Given the description of an element on the screen output the (x, y) to click on. 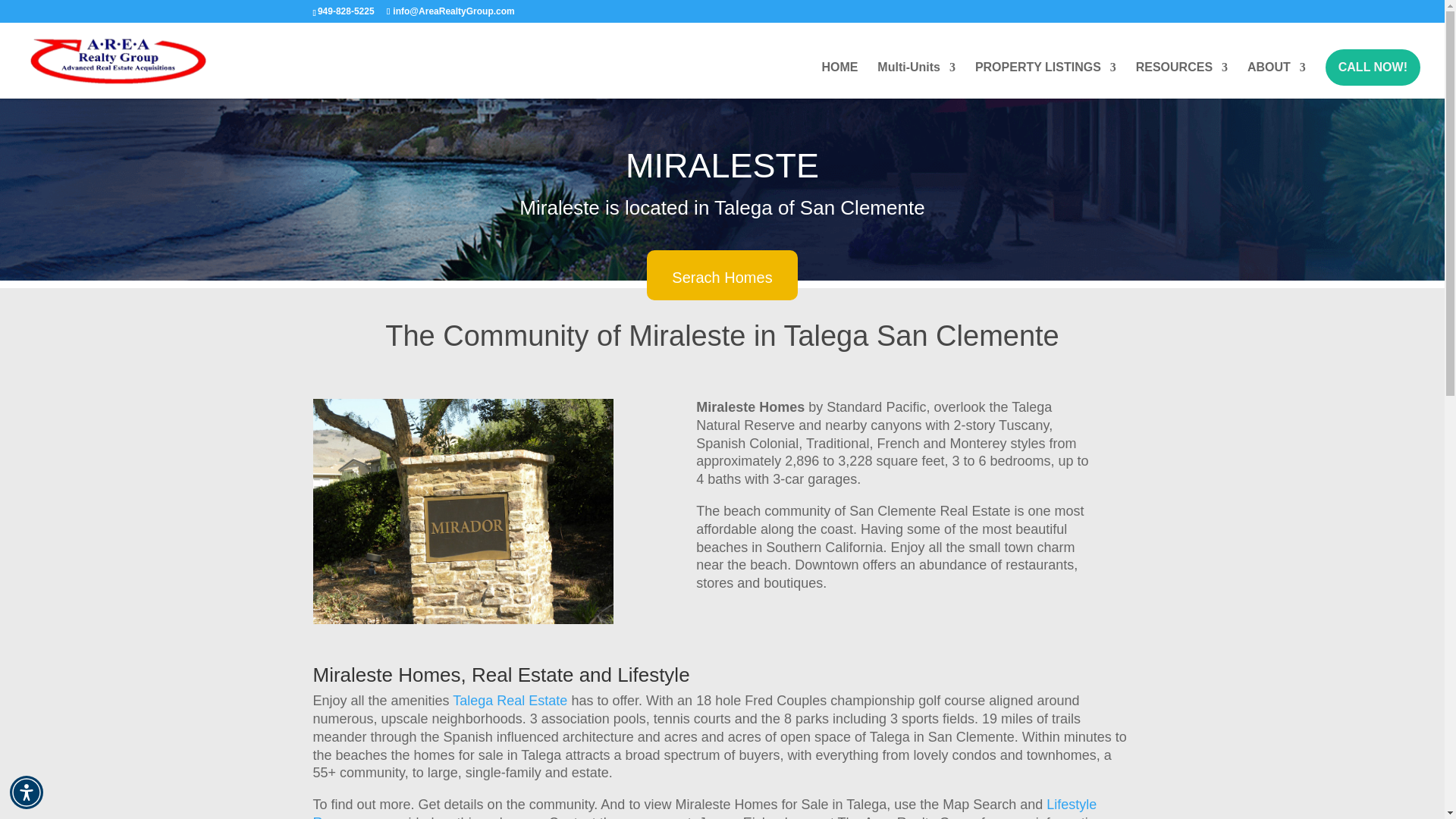
HOME (839, 80)
Accessibility Menu (26, 792)
PROPERTY LISTINGS (1045, 80)
ABOUT (1276, 80)
CALL NOW! (1372, 67)
Mirador1-1024x768 (462, 511)
Multi-Units (916, 80)
RESOURCES (1181, 80)
